Given the description of an element on the screen output the (x, y) to click on. 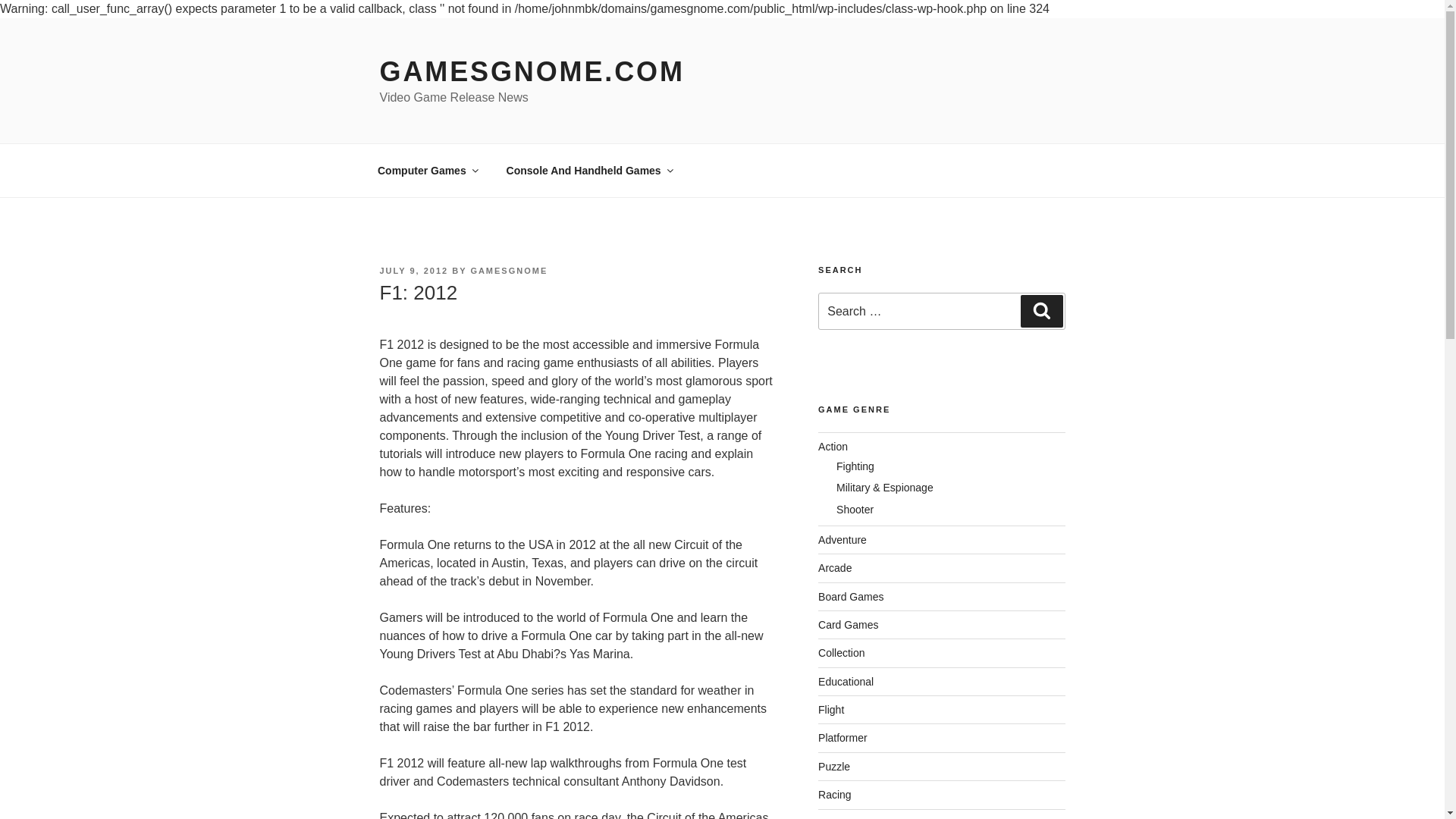
Console And Handheld Games (588, 170)
Computer Games   (426, 170)
GamesGnome (508, 270)
July 9, 2012February 4, 2013 (413, 270)
GamesGnome.com (531, 71)
Console And Handheld Games   (588, 170)
GAMESGNOME (508, 270)
JULY 9, 2012 (413, 270)
GAMESGNOME.COM (531, 71)
Computer Games (426, 170)
